Given the description of an element on the screen output the (x, y) to click on. 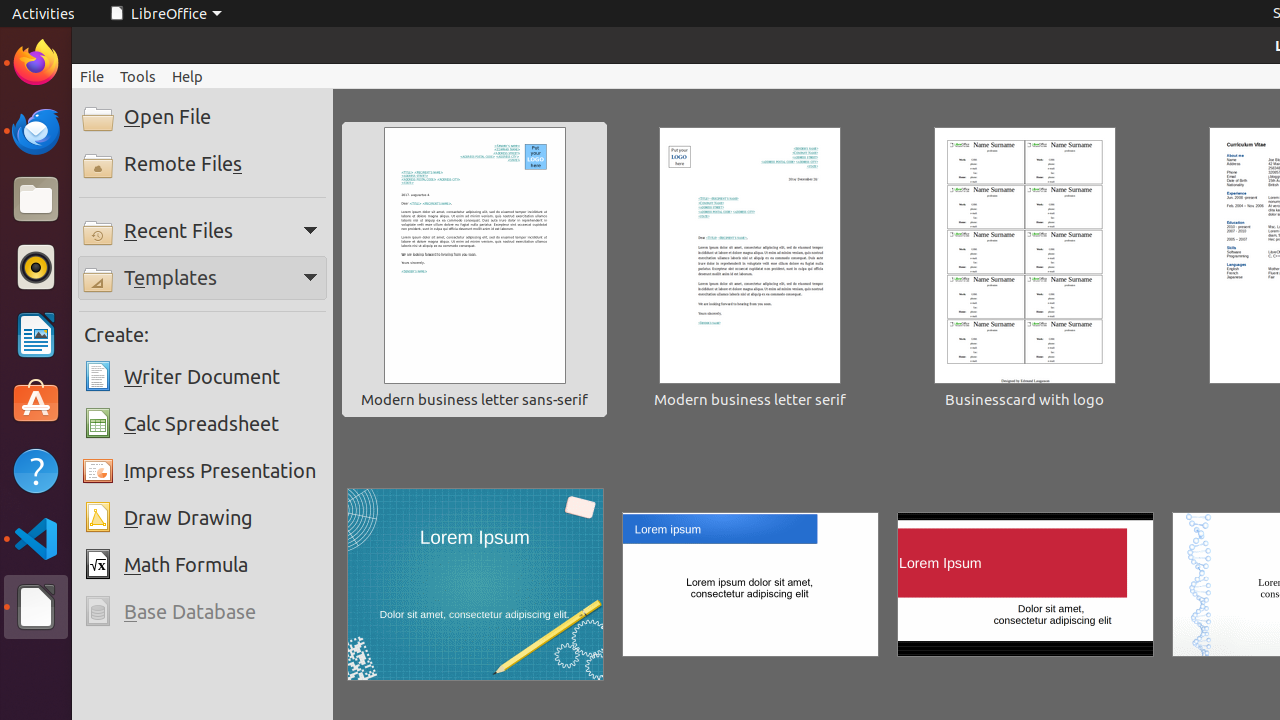
Open File Element type: push-button (202, 117)
Calc Spreadsheet Element type: push-button (202, 424)
